Given the description of an element on the screen output the (x, y) to click on. 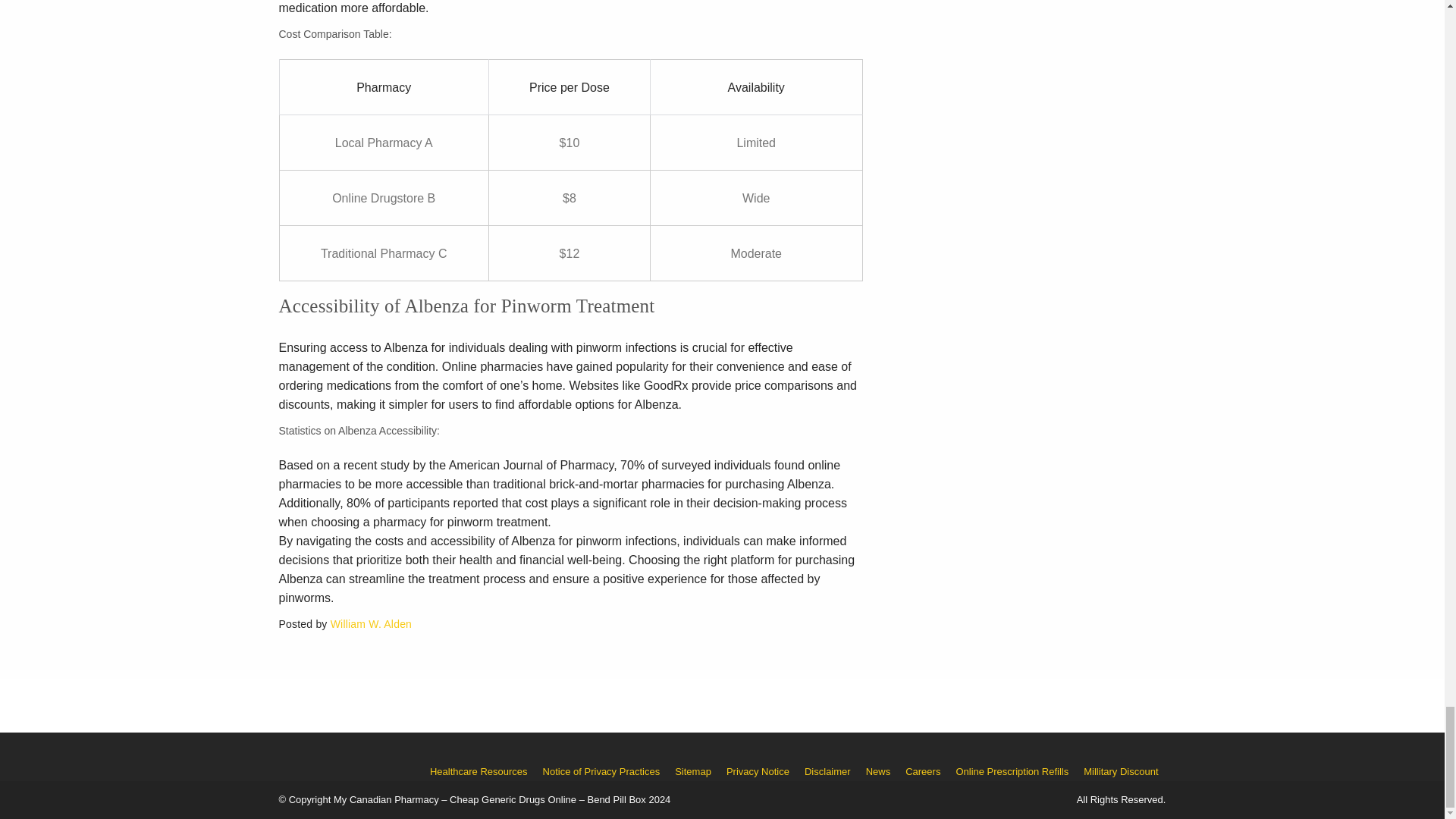
Posts by William W. Alden (371, 623)
William W. Alden (371, 623)
